Given the description of an element on the screen output the (x, y) to click on. 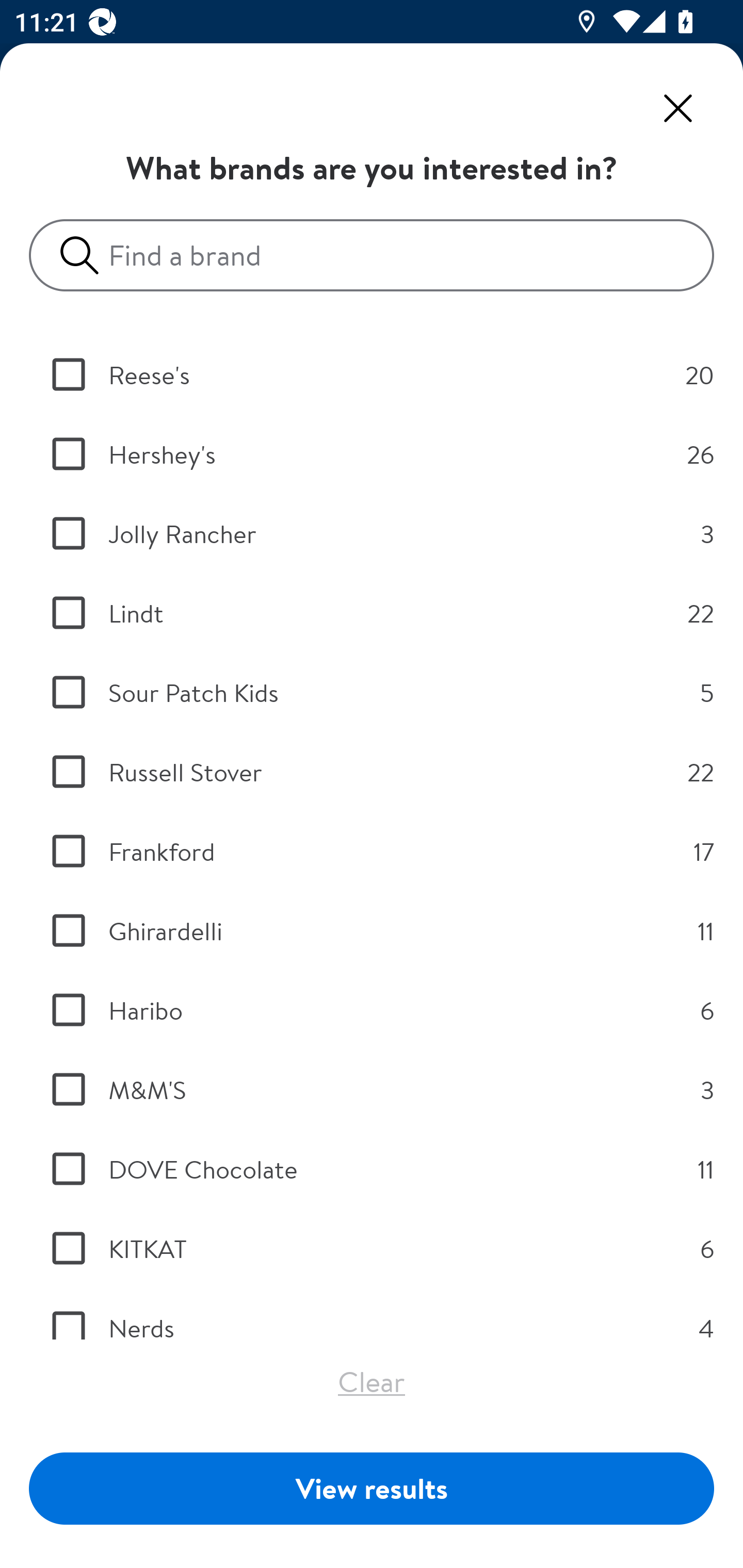
Close (677, 108)
Find a brand (378, 255)
Clear clear all filters (371, 1381)
View results (371, 1487)
